Given the description of an element on the screen output the (x, y) to click on. 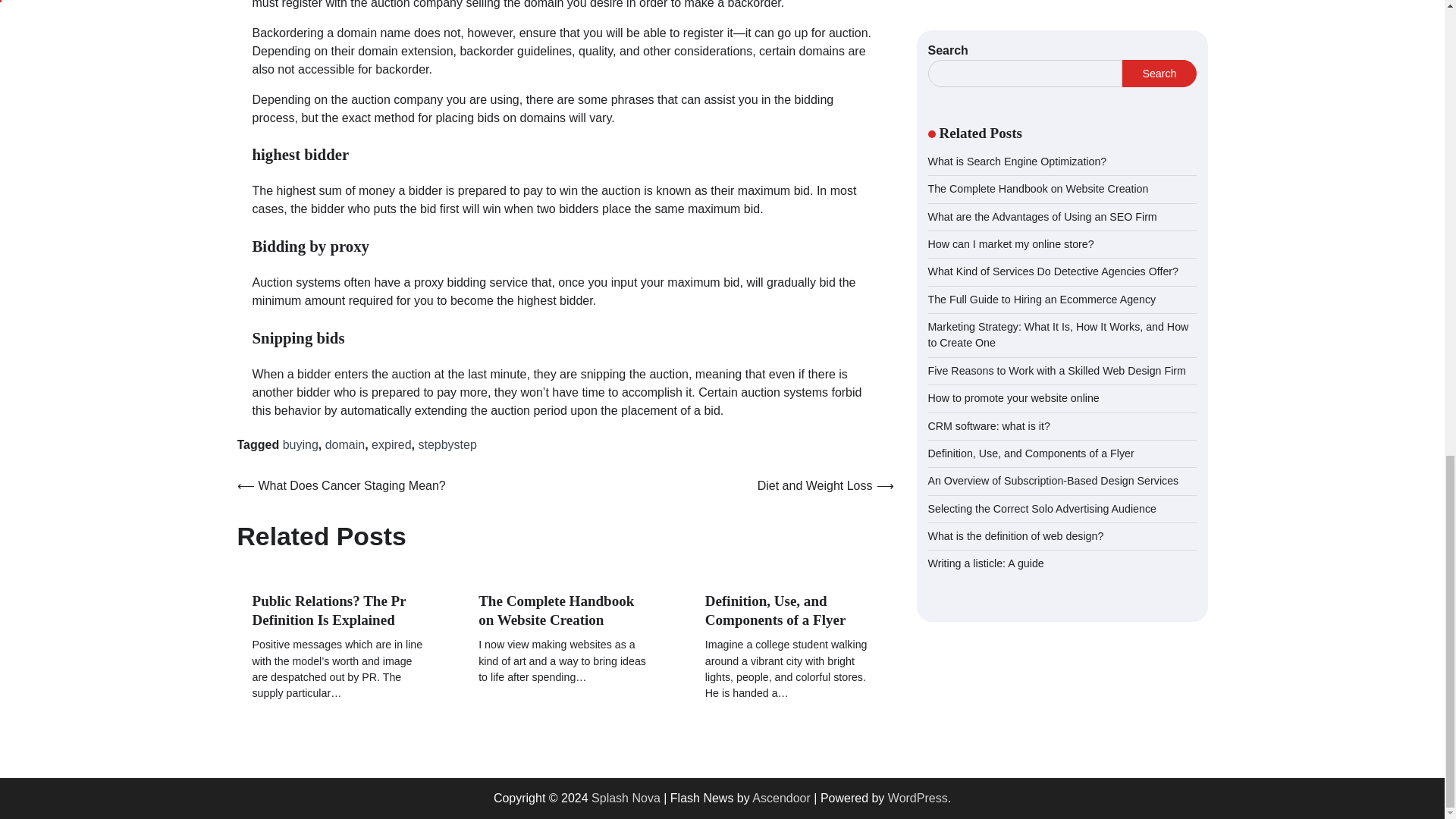
domain (344, 444)
stepbystep (446, 444)
Definition, Use, and Components of a Flyer (774, 610)
WordPress (917, 797)
Ascendoor (781, 797)
Public Relations? The Pr Definition Is Explained (328, 610)
The Complete Handbook on Website Creation (556, 610)
expired (390, 444)
Splash Nova (626, 797)
buying (300, 444)
